Given the description of an element on the screen output the (x, y) to click on. 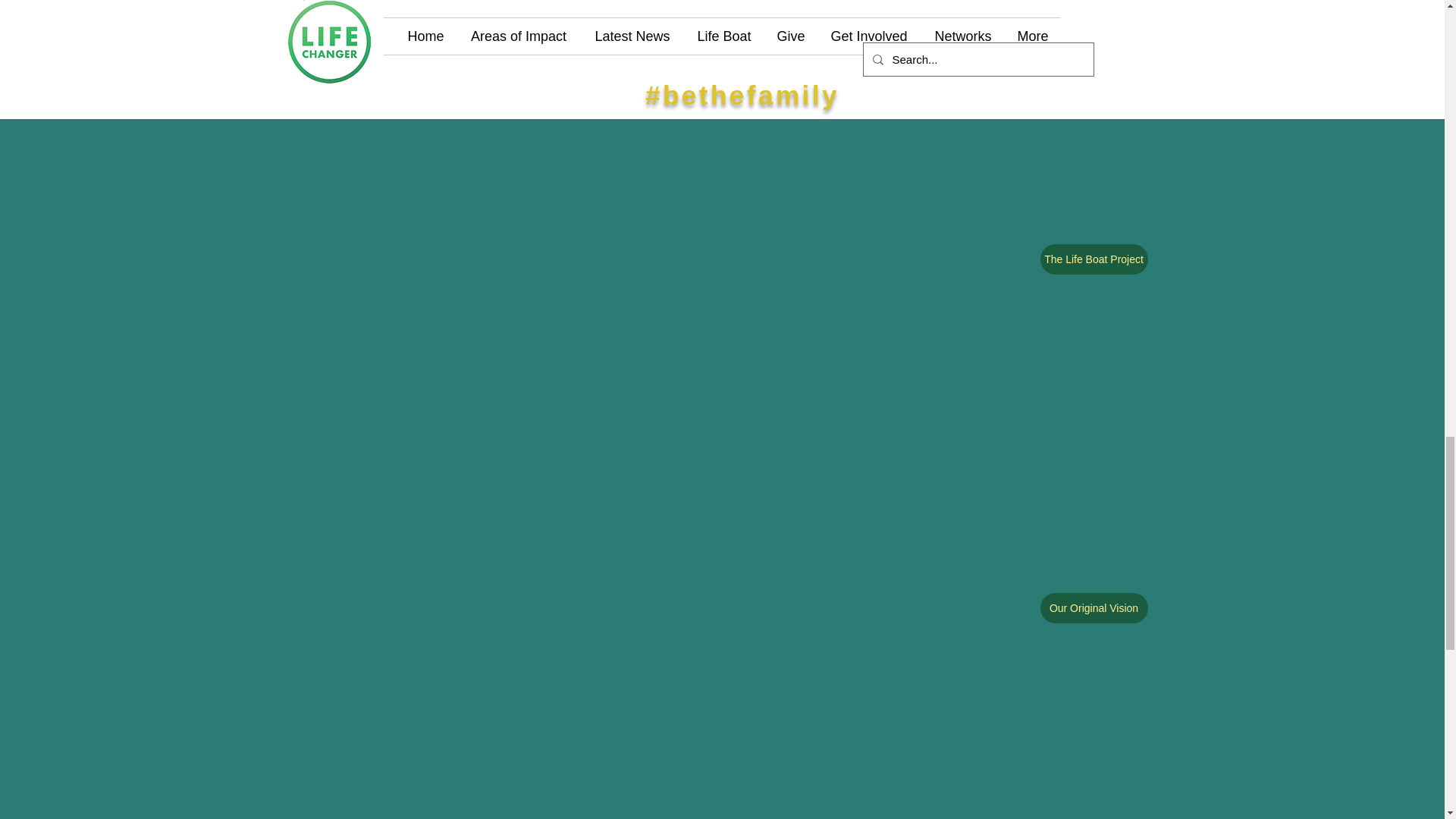
Our Original Vision (1094, 607)
The Life Boat Project (1094, 259)
